Given the description of an element on the screen output the (x, y) to click on. 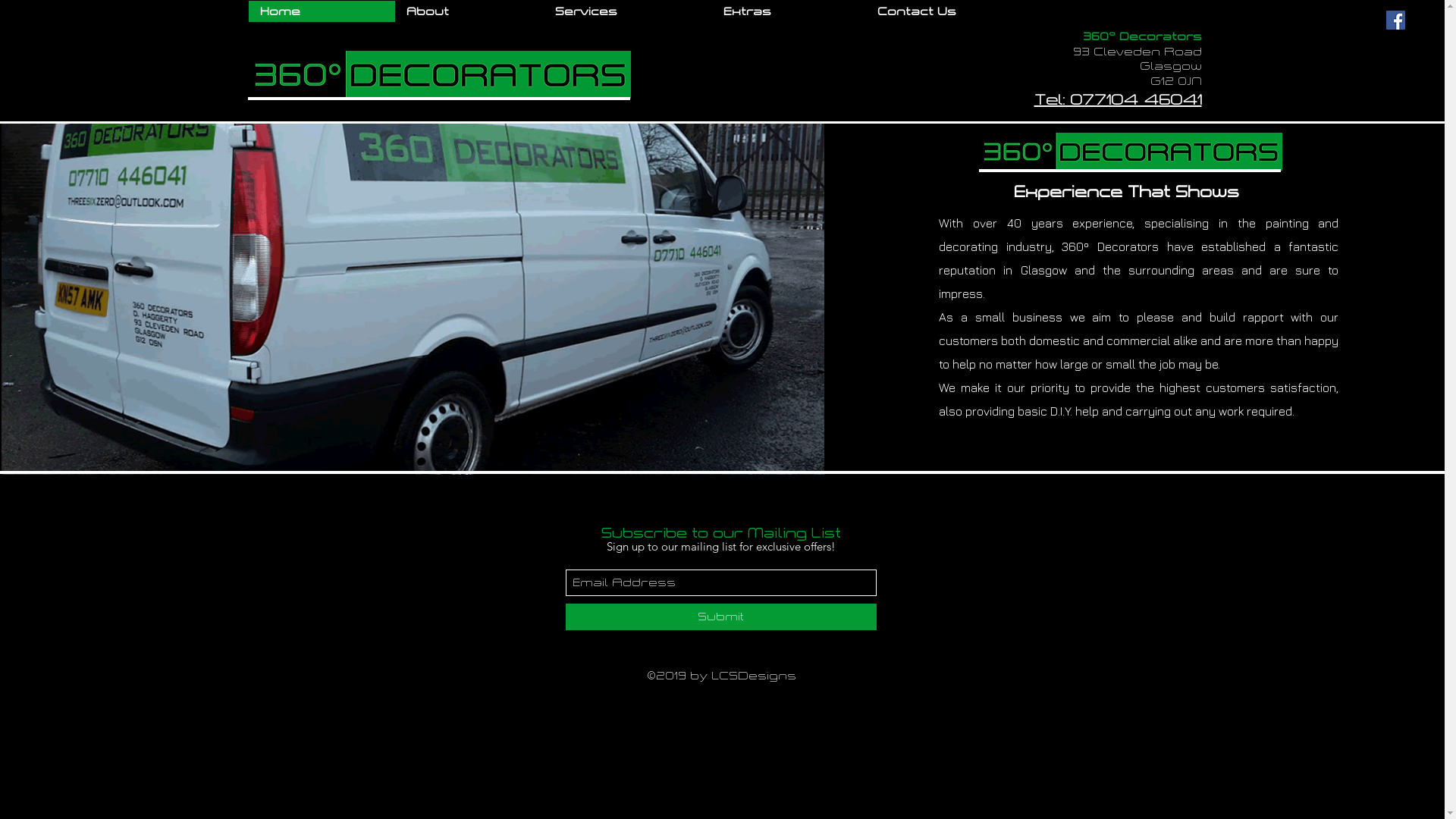
Extras Element type: text (788, 10)
Services Element type: text (626, 10)
About Element type: text (468, 10)
Contact Us Element type: text (958, 10)
Home Element type: text (321, 10)
Submit Element type: text (720, 616)
